Given the description of an element on the screen output the (x, y) to click on. 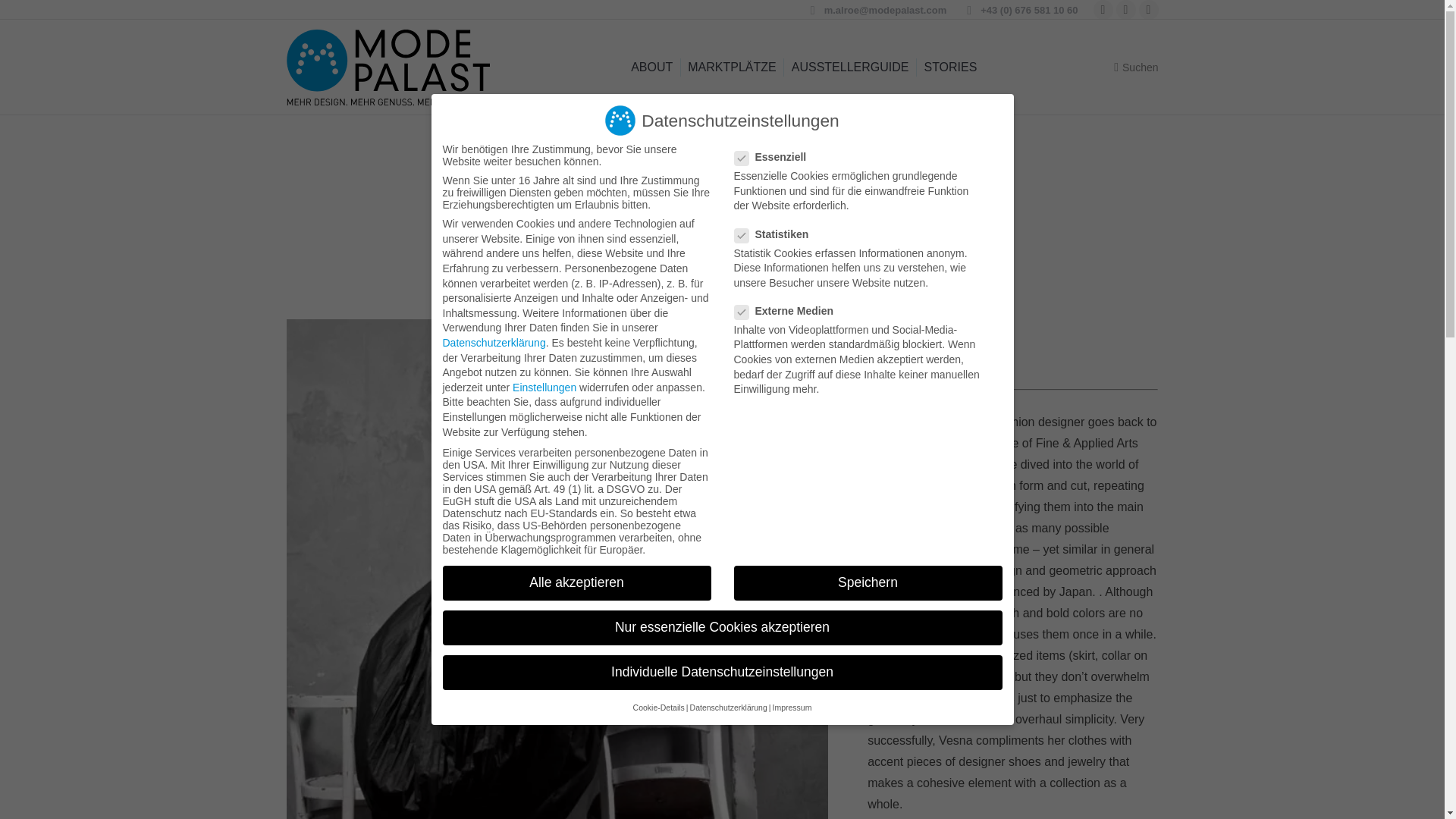
Facebook page opens in new window (1103, 9)
AUSSTELLERGUIDE (850, 66)
Los! (26, 16)
Facebook page opens in new window (1103, 9)
Suchen (1135, 67)
Instagram page opens in new window (1148, 9)
Instagram page opens in new window (1148, 9)
Twitter page opens in new window (1125, 9)
Twitter page opens in new window (1125, 9)
